Given the description of an element on the screen output the (x, y) to click on. 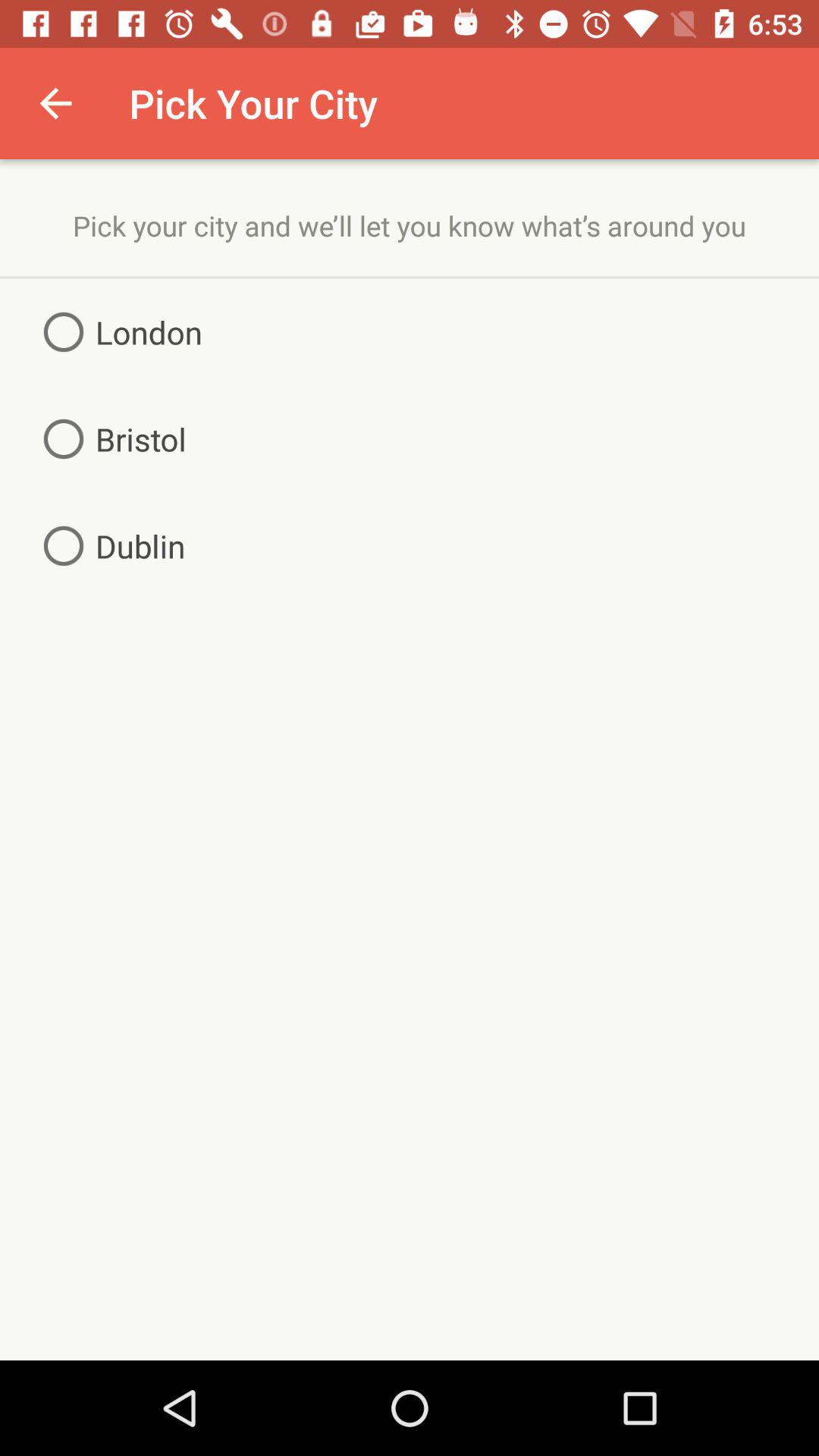
swipe to dublin item (108, 545)
